Given the description of an element on the screen output the (x, y) to click on. 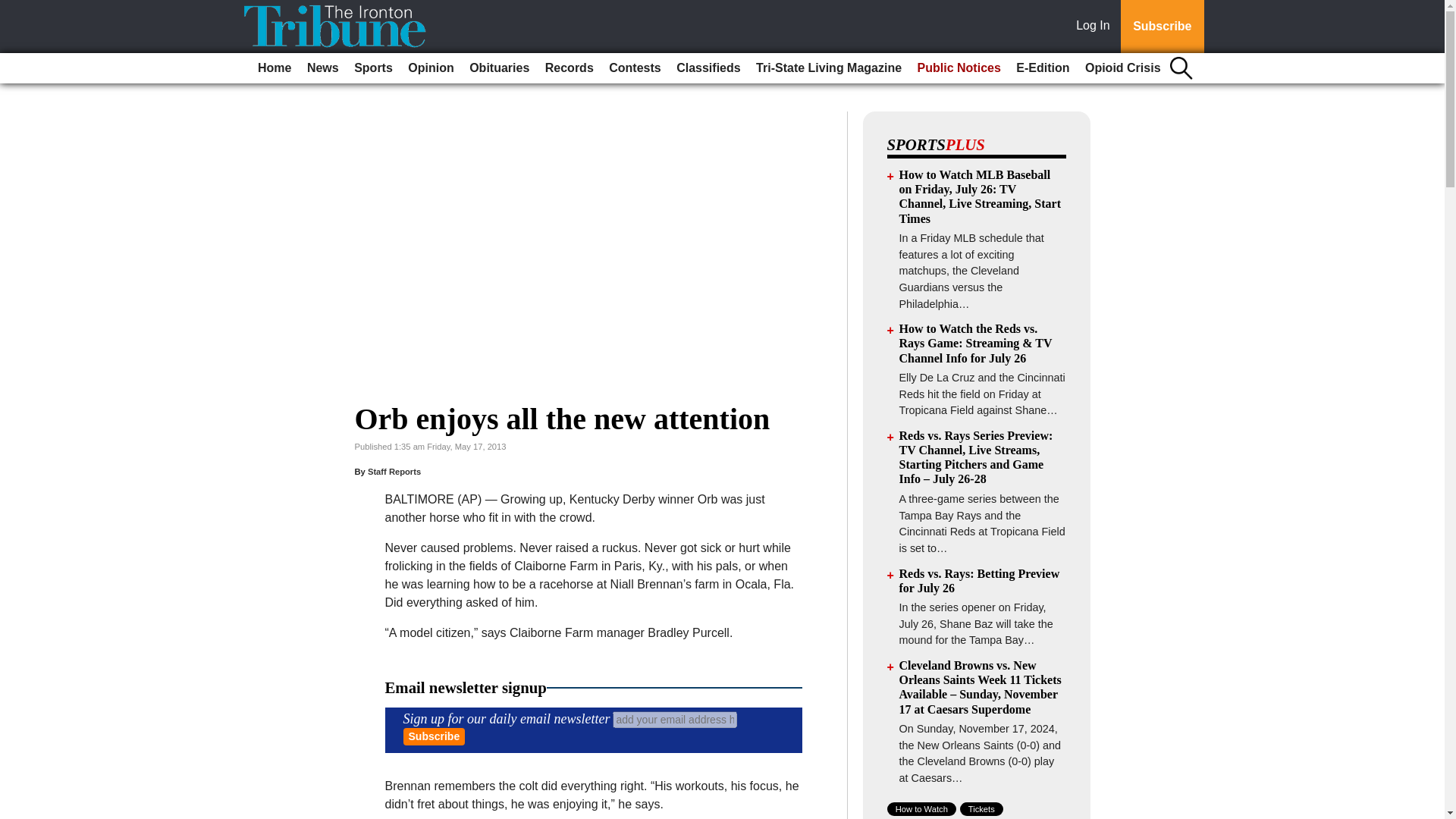
Subscribe (1162, 26)
Public Notices (959, 68)
Subscribe (434, 736)
Opinion (430, 68)
Subscribe (434, 736)
Records (568, 68)
Tickets (981, 808)
Log In (1095, 26)
E-Edition (1042, 68)
Opioid Crisis (1122, 68)
Staff Reports (394, 470)
Go (13, 9)
News (323, 68)
Obituaries (499, 68)
Classifieds (707, 68)
